Given the description of an element on the screen output the (x, y) to click on. 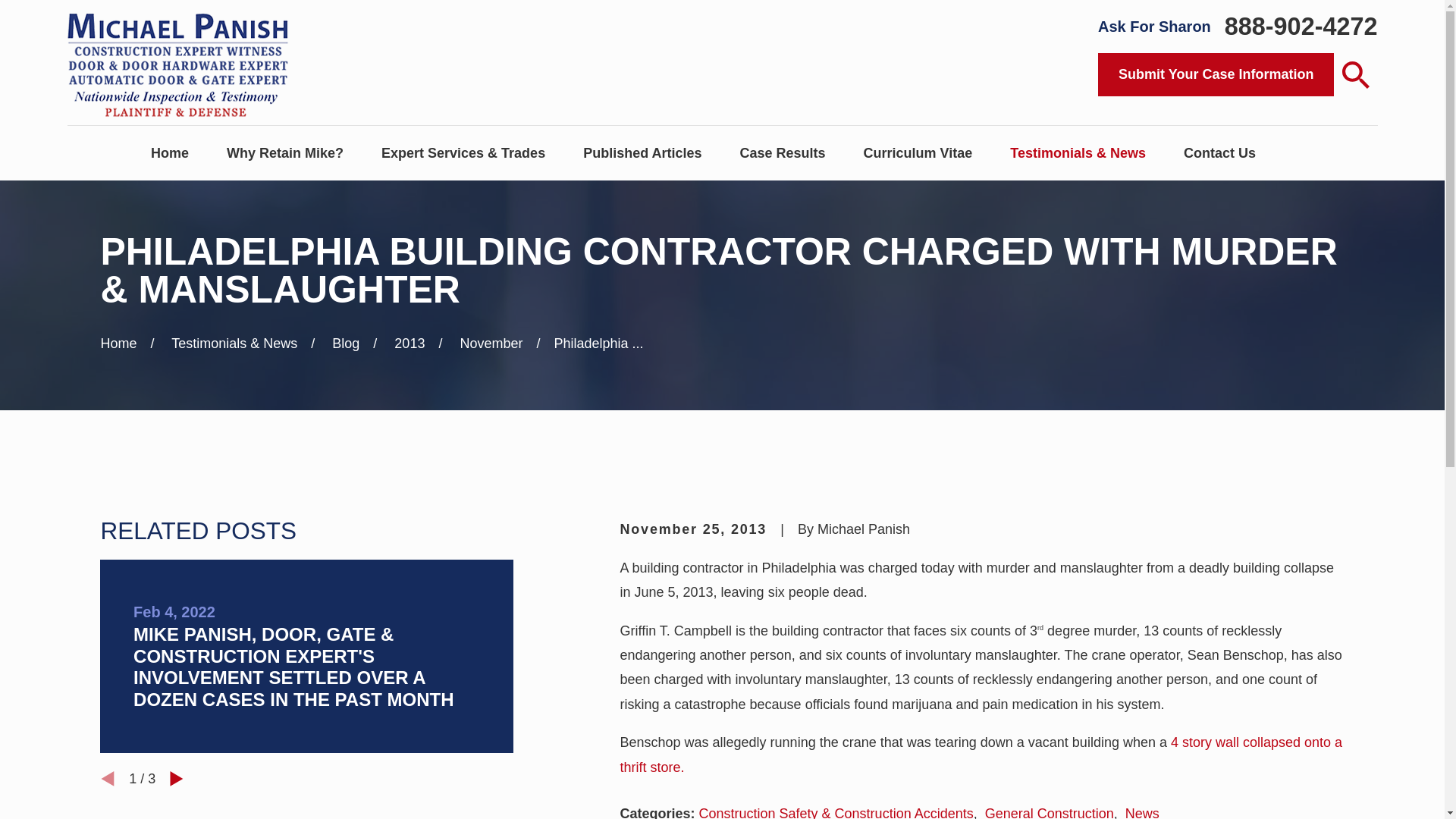
Home (170, 153)
888-902-4272 (1300, 26)
Submit Your Case Information (1215, 75)
Why Retain Mike? (285, 153)
Published Articles (642, 153)
Home (179, 62)
Go Home (118, 343)
View next item (176, 778)
View previous item (107, 778)
